Given the description of an element on the screen output the (x, y) to click on. 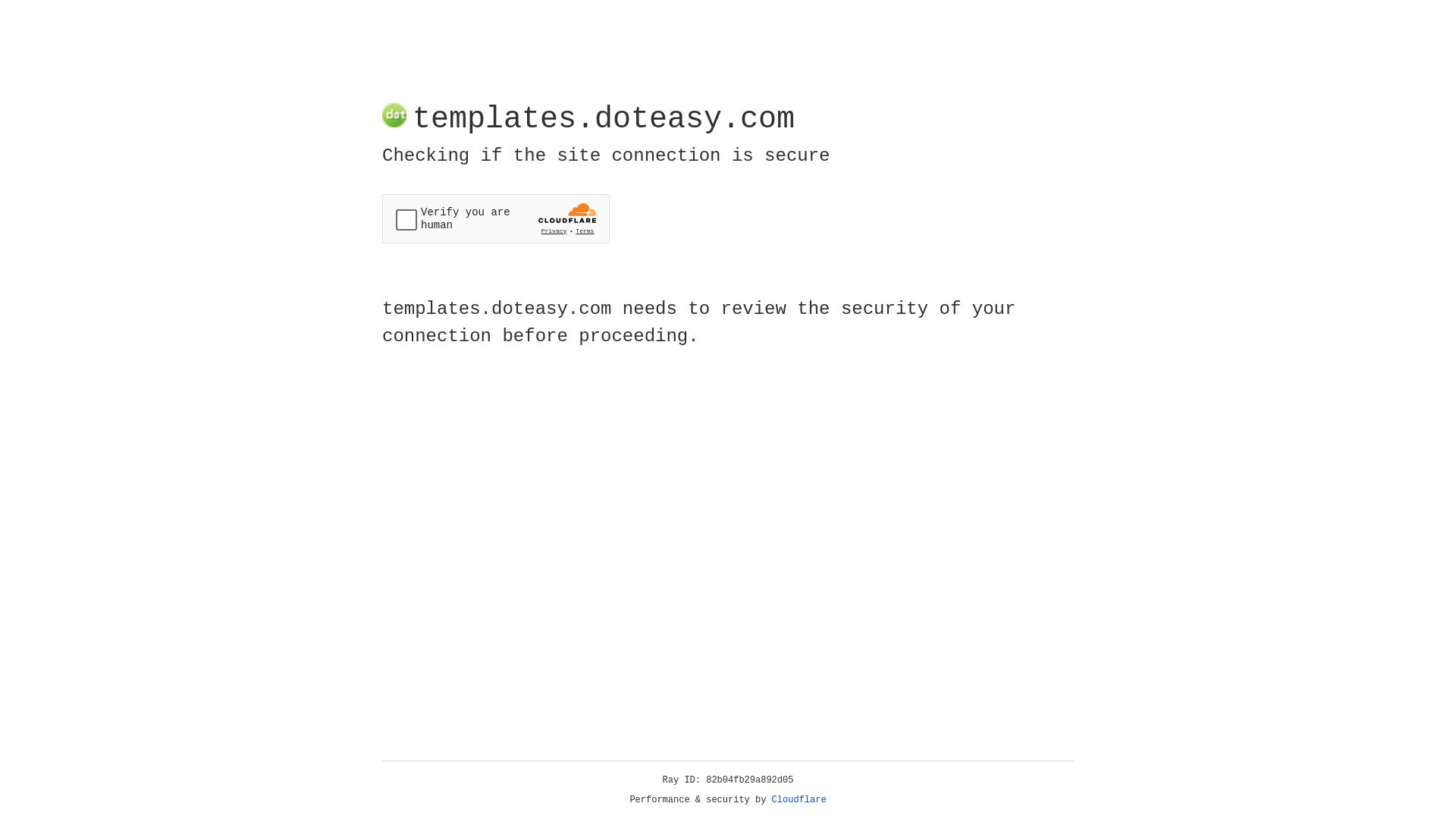
Cloudflare Element type: text (798, 799)
Widget containing a Cloudflare security challenge Element type: hover (495, 218)
